Given the description of an element on the screen output the (x, y) to click on. 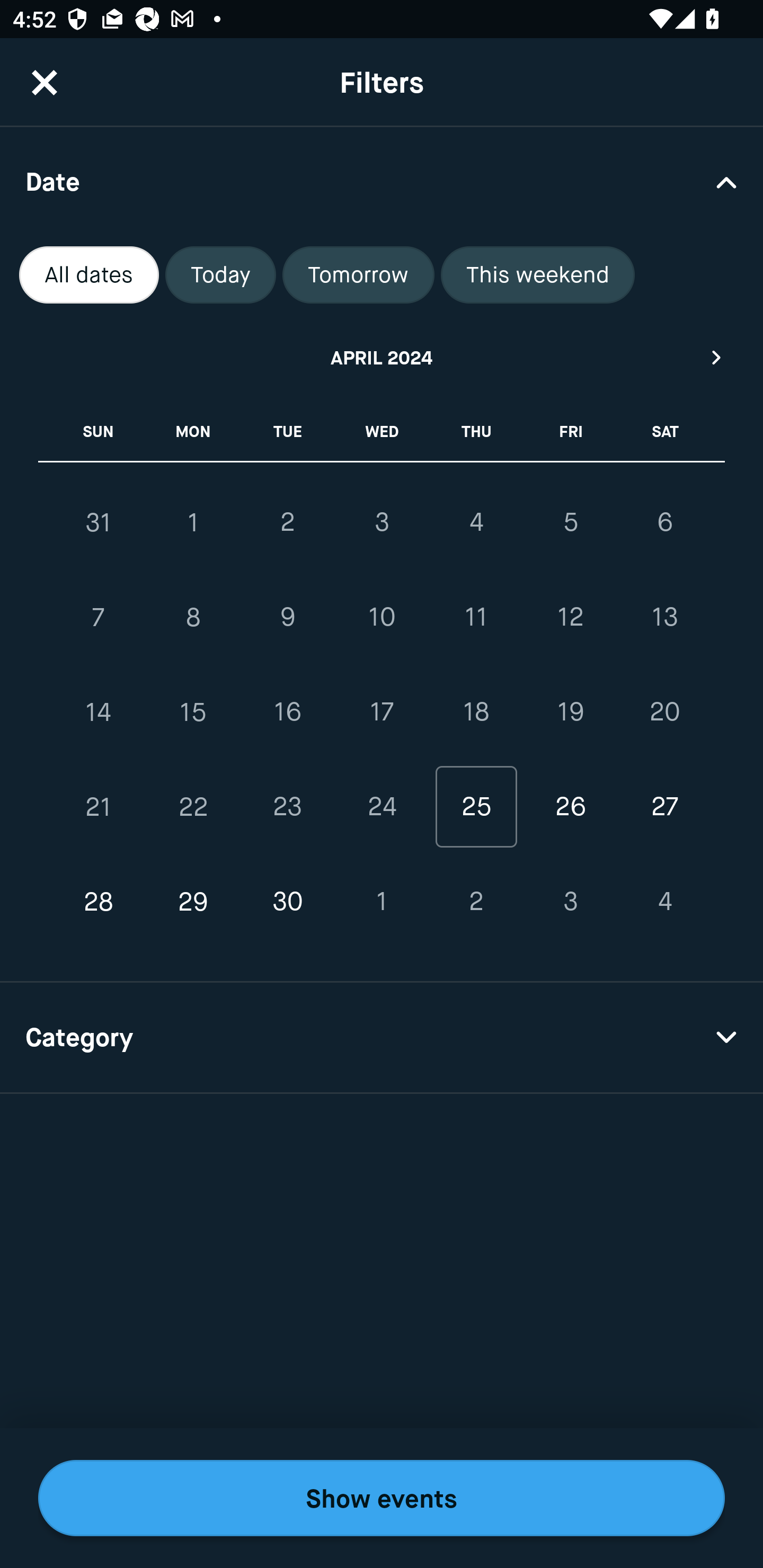
CloseButton (44, 82)
Date Drop Down Arrow (381, 181)
All dates (88, 274)
Today (220, 274)
Tomorrow (358, 274)
This weekend (537, 274)
Next (717, 357)
31 (98, 522)
1 (192, 522)
2 (287, 522)
3 (381, 522)
4 (475, 522)
5 (570, 522)
6 (664, 522)
7 (98, 617)
8 (192, 617)
9 (287, 617)
10 (381, 617)
11 (475, 617)
12 (570, 617)
13 (664, 617)
14 (98, 711)
15 (192, 711)
16 (287, 711)
17 (381, 711)
18 (475, 711)
19 (570, 711)
20 (664, 711)
21 (98, 806)
22 (192, 806)
23 (287, 806)
24 (381, 806)
25 (475, 806)
26 (570, 806)
27 (664, 806)
28 (98, 901)
29 (192, 901)
30 (287, 901)
1 (381, 901)
2 (475, 901)
3 (570, 901)
4 (664, 901)
Category Drop Down Arrow (381, 1038)
Show events (381, 1497)
